Given the description of an element on the screen output the (x, y) to click on. 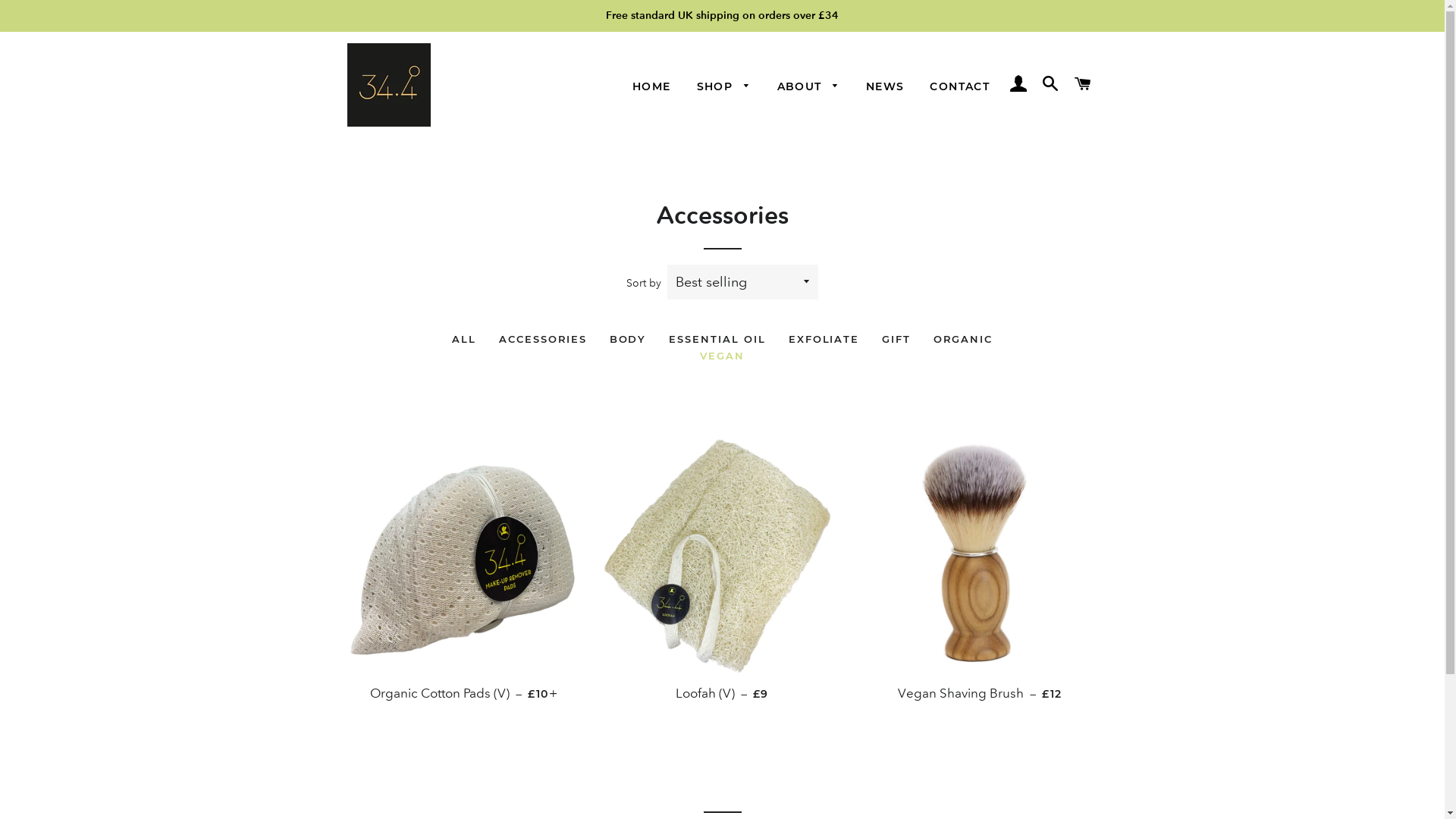
EXFOLIATE Element type: text (824, 338)
ACCESSORIES Element type: text (542, 338)
CONTACT Element type: text (959, 86)
ESSENTIAL OIL Element type: text (716, 338)
ABOUT Element type: text (808, 86)
LOG IN Element type: text (1018, 84)
VEGAN Element type: text (722, 355)
SEARCH Element type: text (1050, 84)
ORGANIC Element type: text (963, 338)
GIFT Element type: text (896, 338)
CART Element type: text (1082, 84)
ALL Element type: text (463, 338)
NEWS Element type: text (885, 86)
HOME Element type: text (651, 86)
SHOP Element type: text (723, 86)
BODY Element type: text (628, 338)
